Given the description of an element on the screen output the (x, y) to click on. 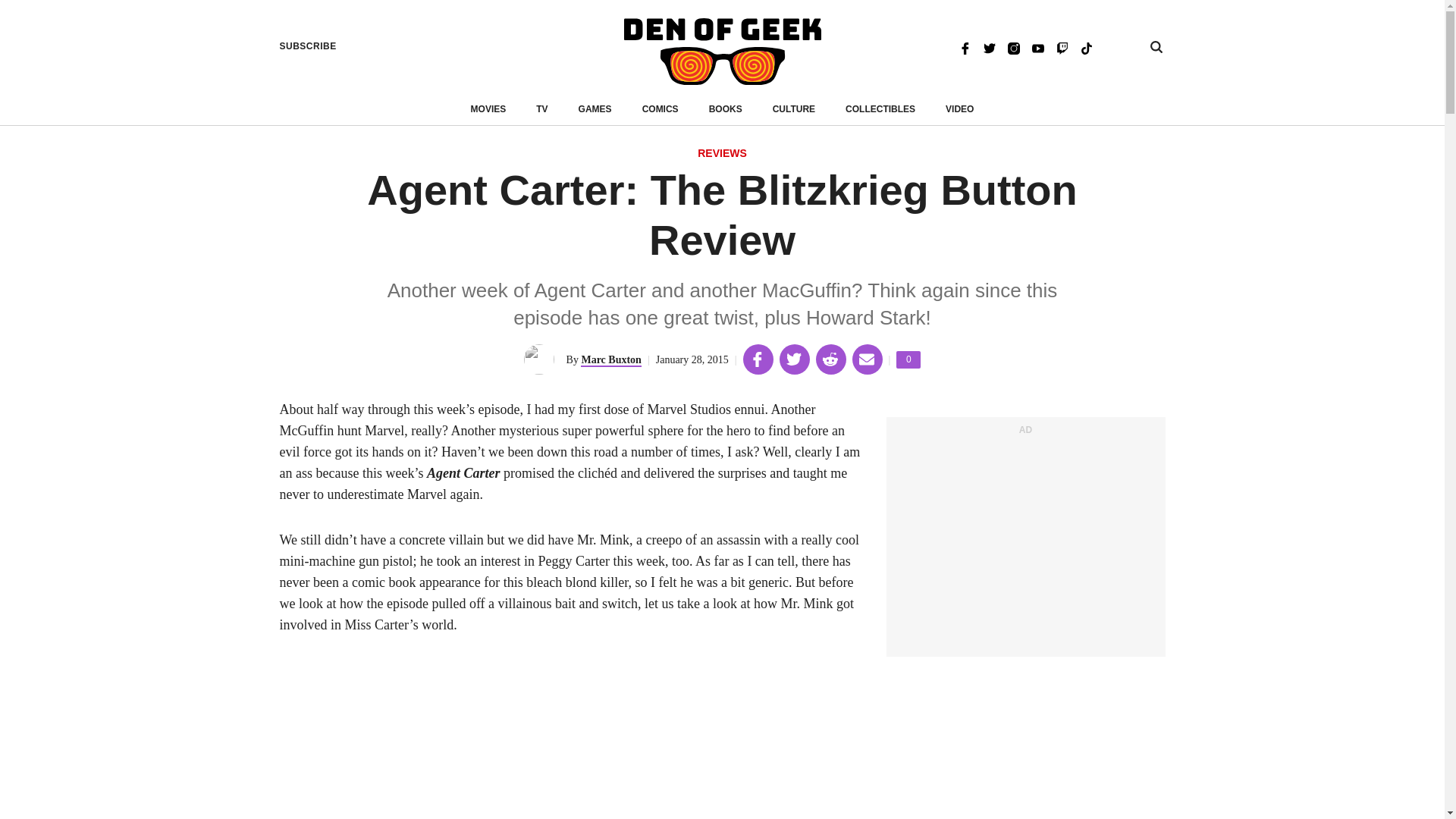
Den of Geek (908, 359)
TikTok (722, 52)
REVIEWS (1085, 46)
CULTURE (721, 153)
Twitch (794, 109)
SUBSCRIBE (1061, 46)
Instagram (307, 46)
BOOKS (1013, 46)
Marc Buxton (725, 109)
